Given the description of an element on the screen output the (x, y) to click on. 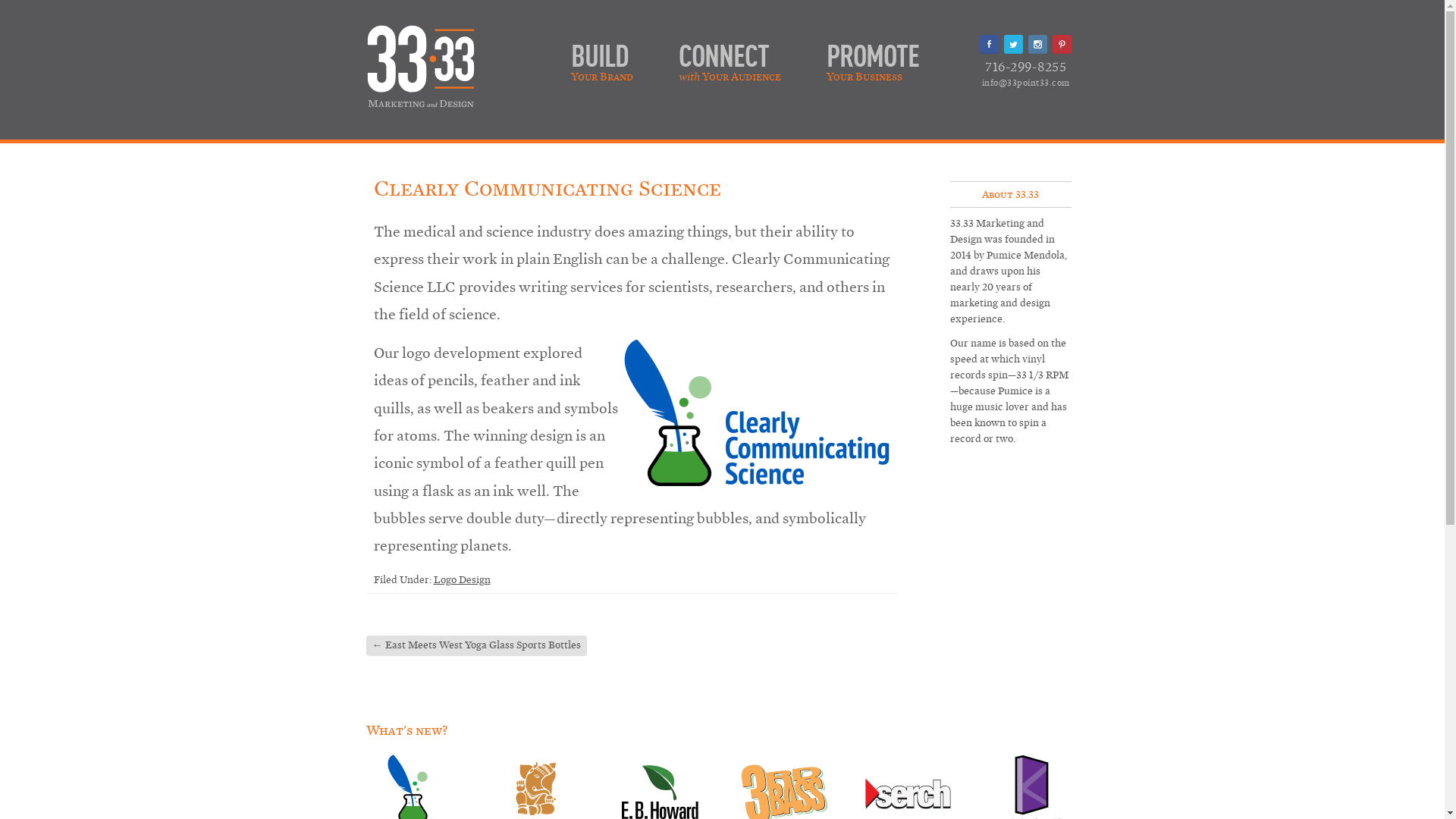
PROMOTE
Your Business Element type: text (872, 55)
BUILD
Your Brand Element type: text (601, 55)
716-299-8255 Element type: text (1025, 66)
CONNECT
with Your Audience Element type: text (729, 55)
info@33point33.com Element type: text (1025, 82)
Logo Design Element type: text (461, 579)
